Given the description of an element on the screen output the (x, y) to click on. 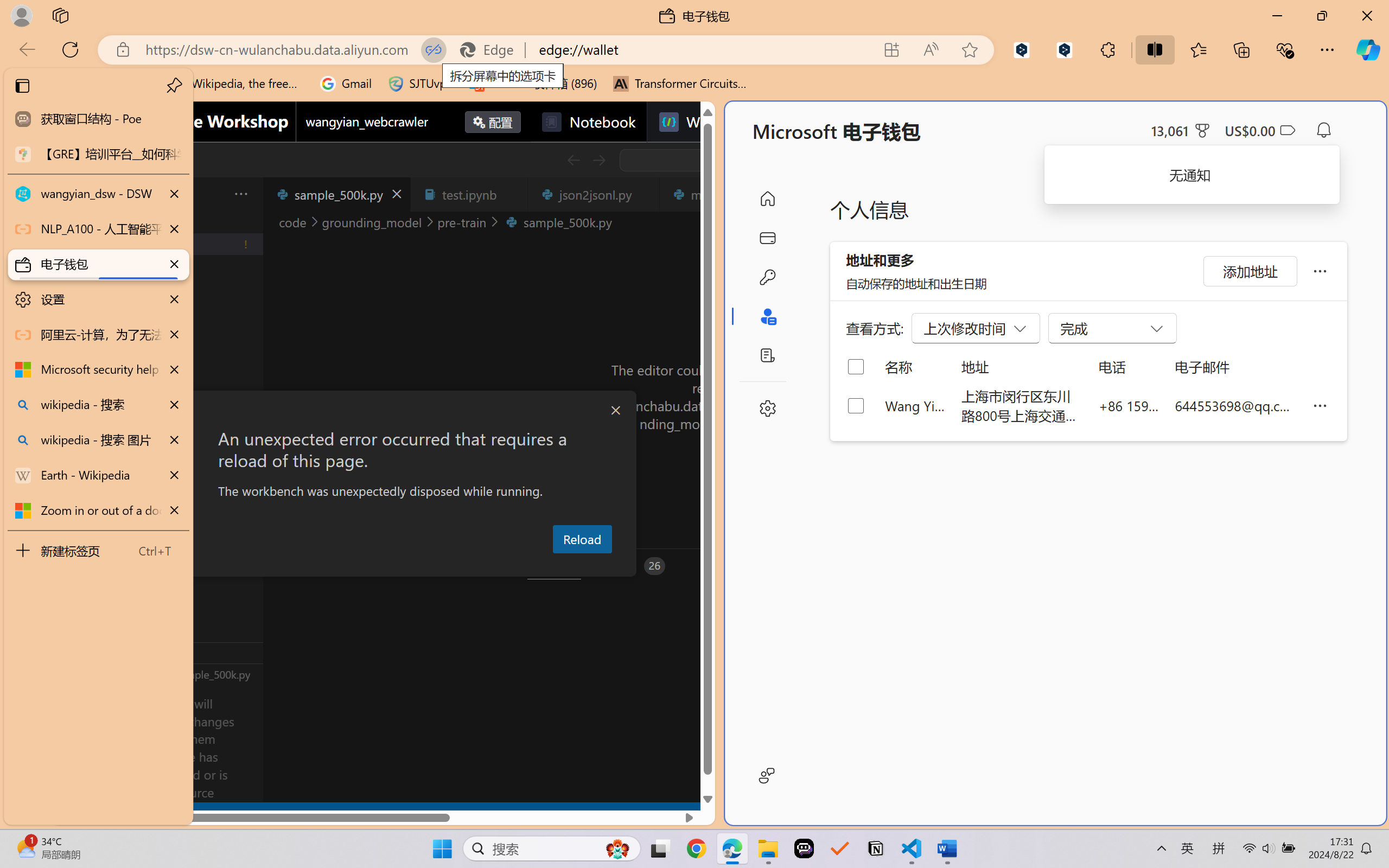
Gmail (345, 83)
Search (Ctrl+Shift+F) (73, 281)
Wikipedia, the free encyclopedia (236, 83)
Terminal (Ctrl+`) (553, 565)
Views and More Actions... (240, 193)
Explorer (Ctrl+Shift+E) (73, 234)
Transformer Circuits Thread (680, 83)
Close Dialog (615, 410)
